Given the description of an element on the screen output the (x, y) to click on. 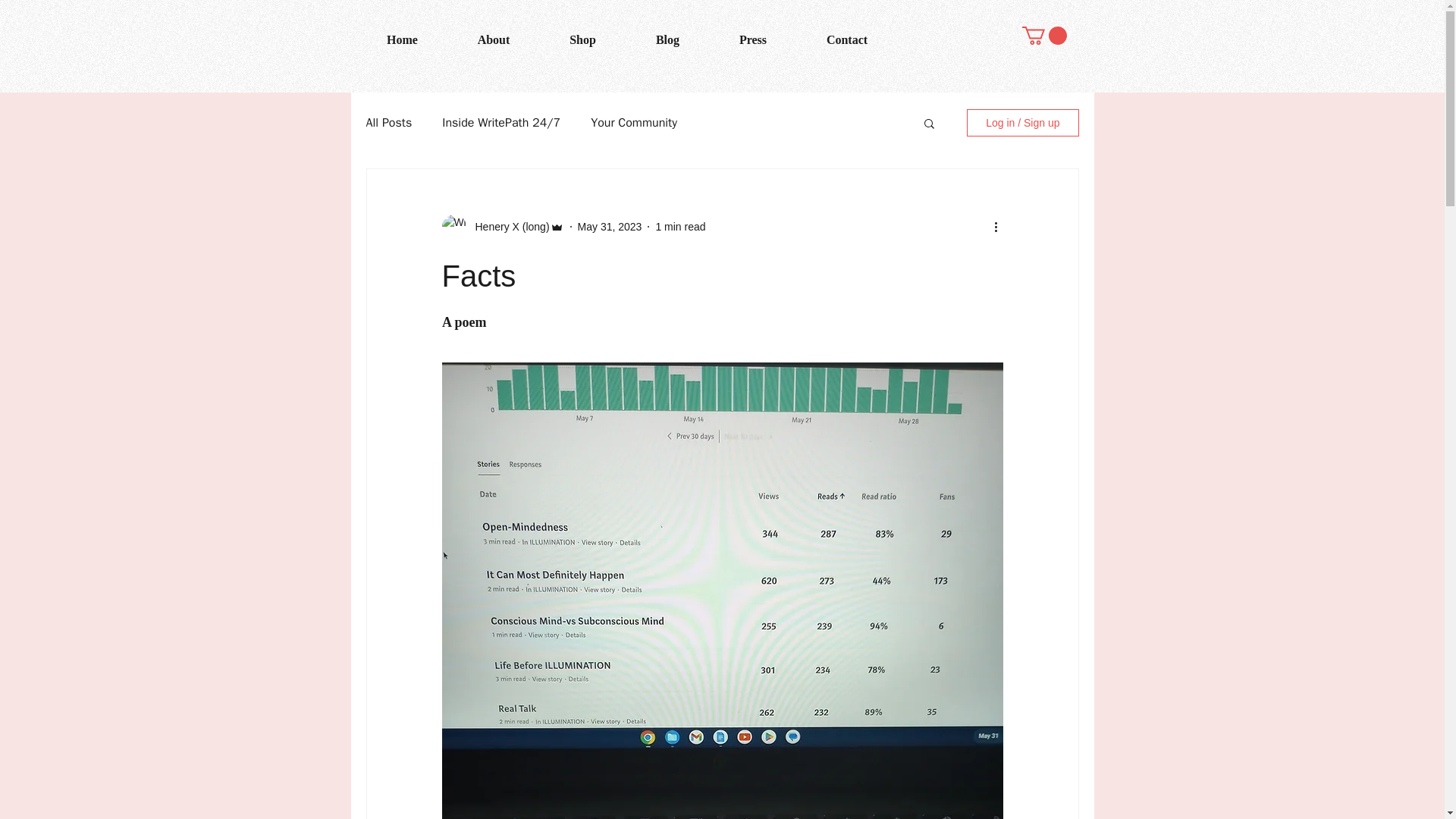
Blog (668, 39)
Press (753, 39)
About (492, 39)
1 min read (679, 226)
Home (401, 39)
Your Community (634, 123)
Shop (583, 39)
May 31, 2023 (610, 226)
Contact (846, 39)
All Posts (388, 123)
